Given the description of an element on the screen output the (x, y) to click on. 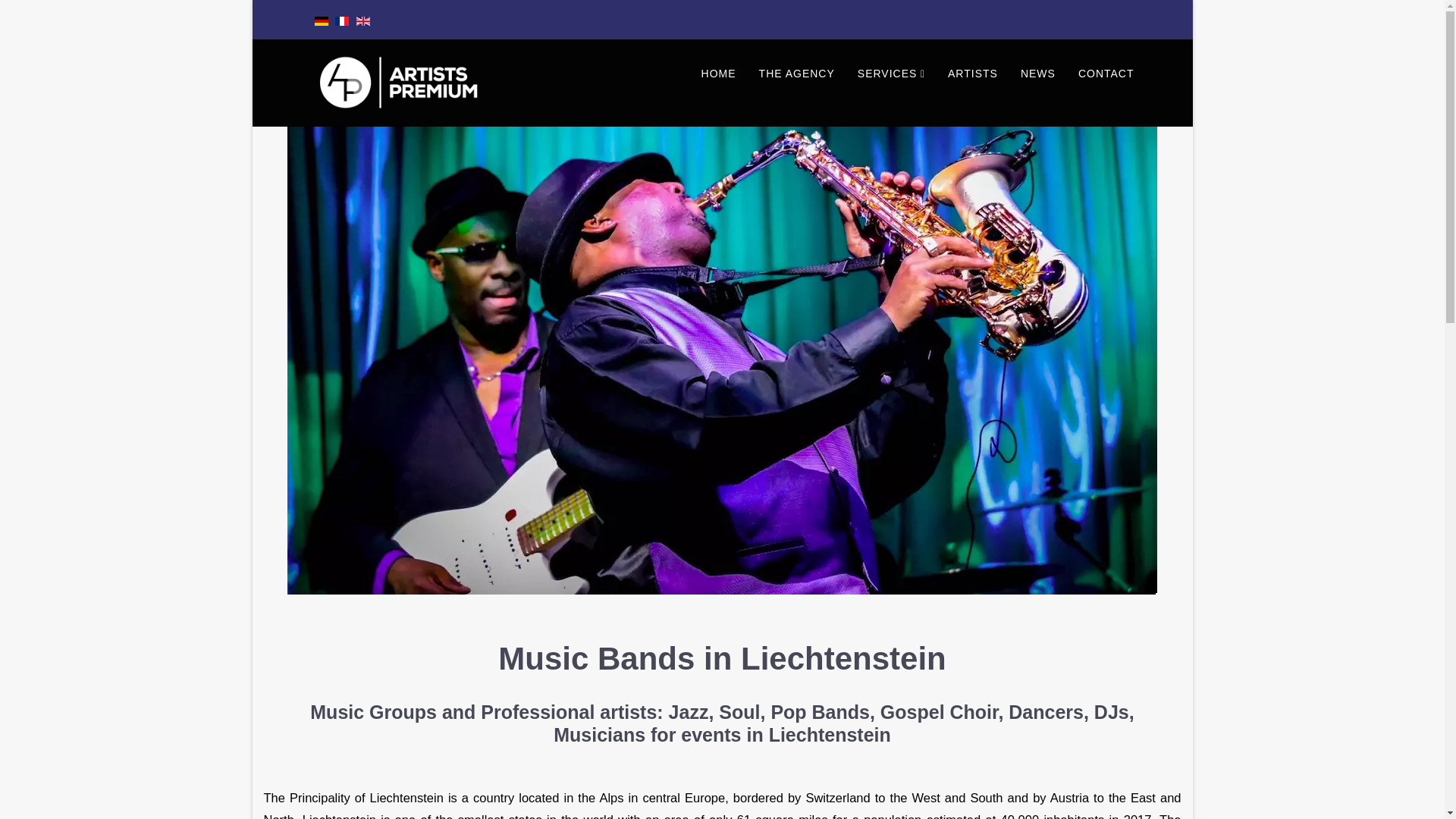
SERVICES (890, 73)
CONTACT (1106, 73)
THE AGENCY (796, 73)
ARTISTS (972, 73)
